Given the description of an element on the screen output the (x, y) to click on. 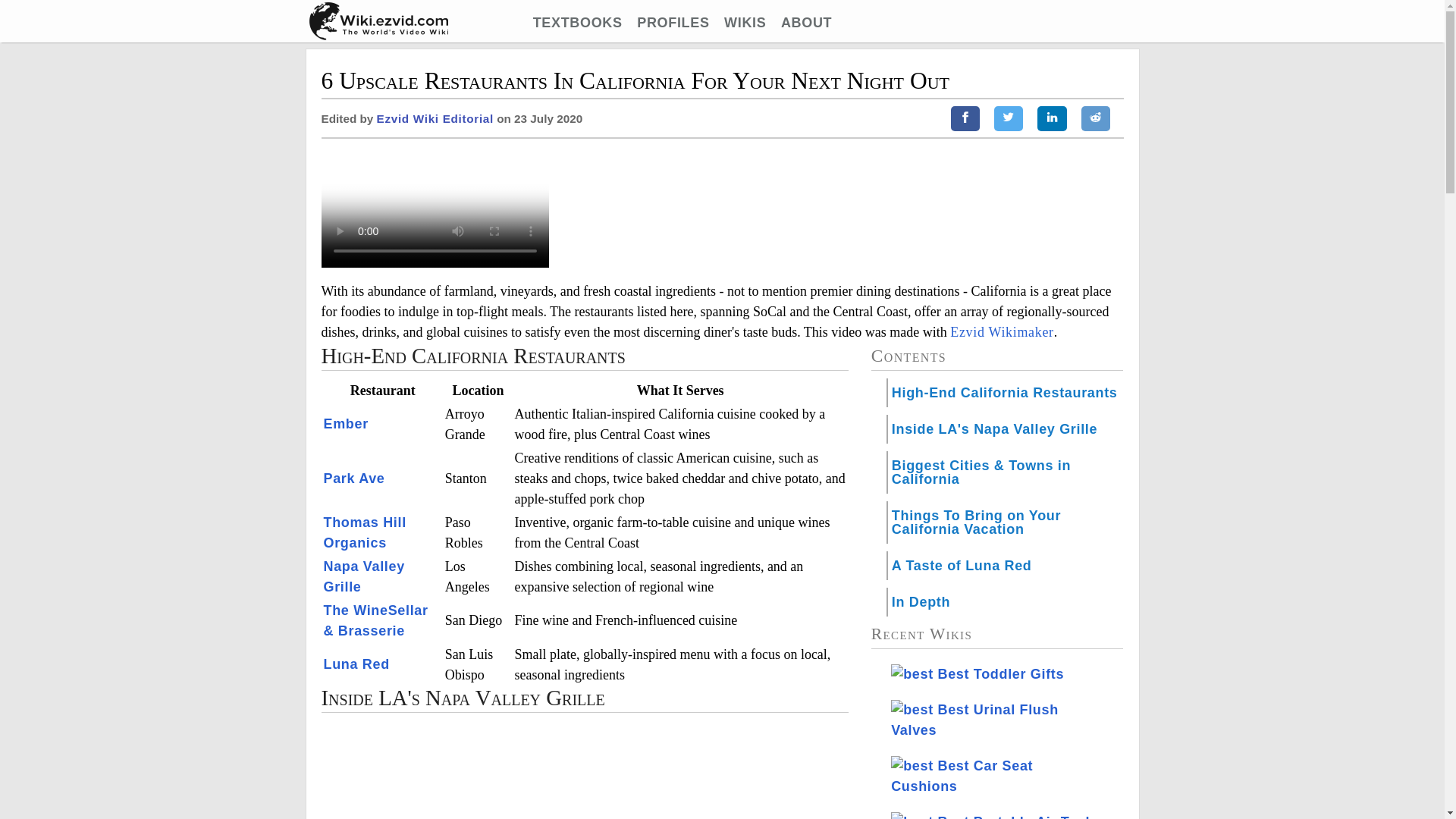
Park Ave (353, 478)
Napa Valley Grille (363, 576)
Ember (345, 423)
Luna Red (355, 663)
Ezvid Wikimaker (1001, 331)
ABOUT (805, 22)
PROFILES (673, 22)
Ezvid Wiki Editorial (435, 118)
WIKIS (744, 22)
Thomas Hill Organics (364, 532)
